Given the description of an element on the screen output the (x, y) to click on. 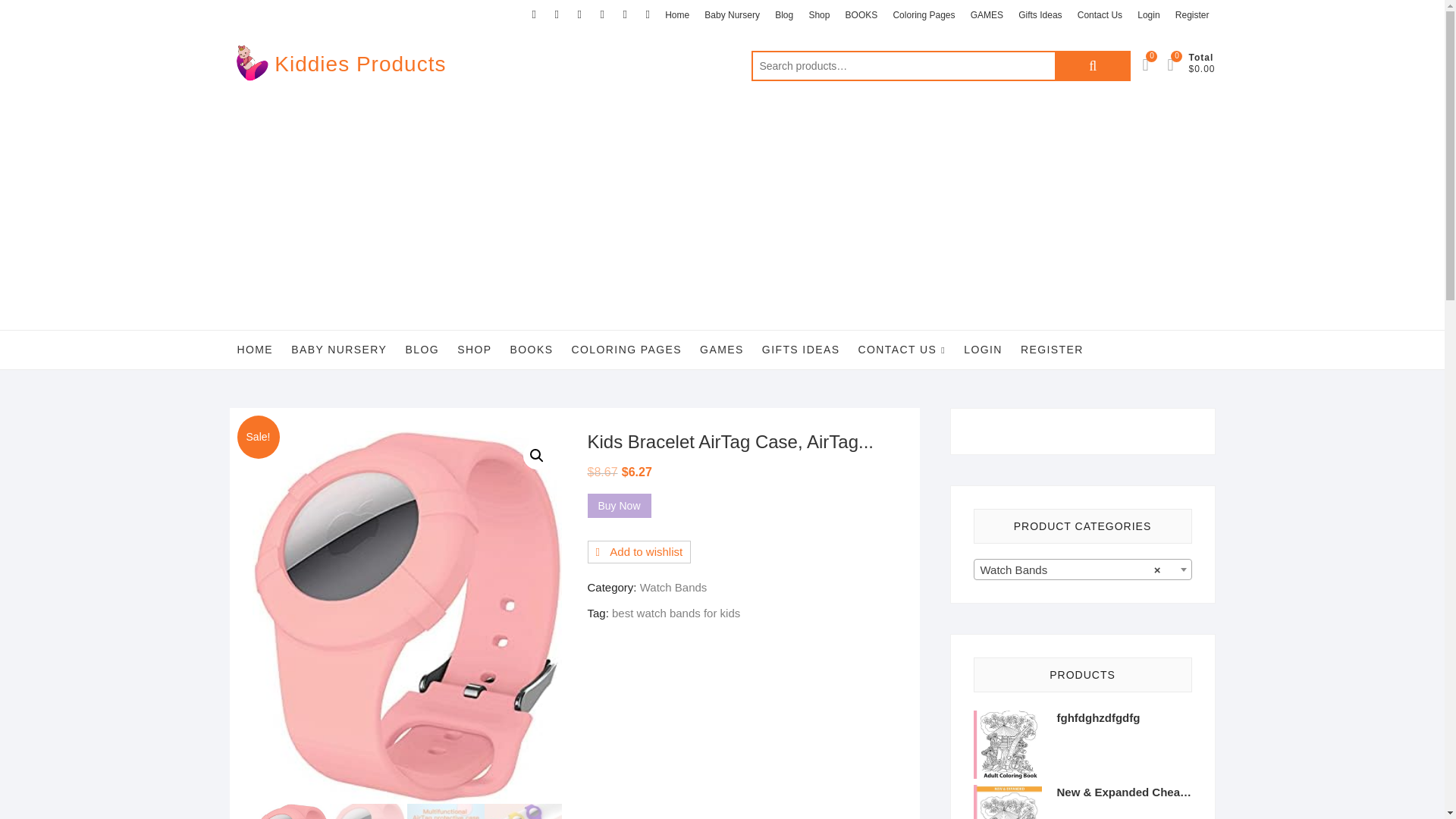
Shop (818, 15)
0 (1152, 64)
dribbble (647, 14)
Contact Us (1099, 15)
GAMES (986, 15)
Home (677, 15)
Register (1192, 15)
SHOP (474, 349)
pinterest (624, 14)
BOOKS (531, 349)
